Given the description of an element on the screen output the (x, y) to click on. 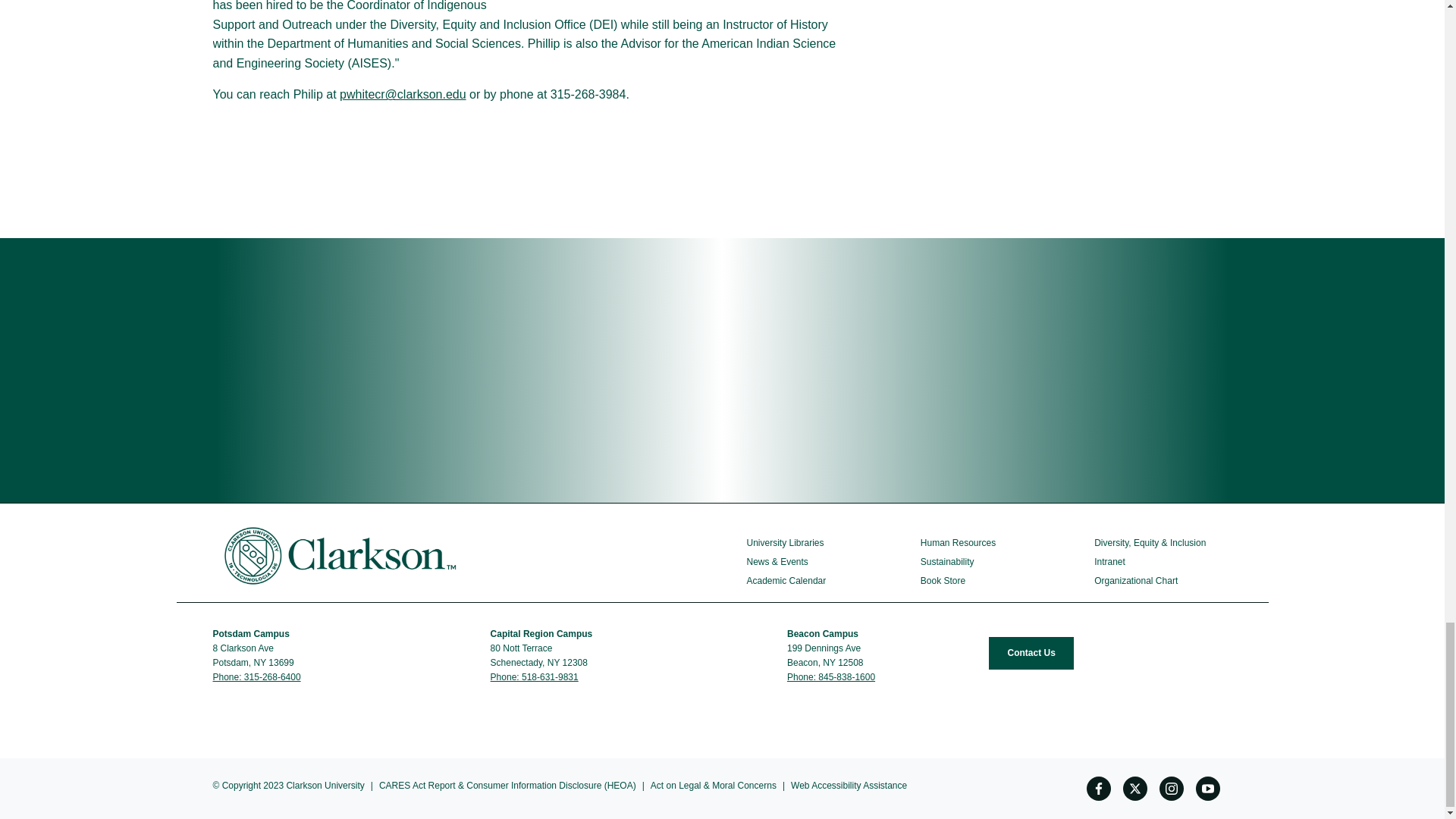
Potsdam Campus (252, 633)
Capital Region Campus (542, 633)
Web Accessibility Assistance (848, 785)
